Given the description of an element on the screen output the (x, y) to click on. 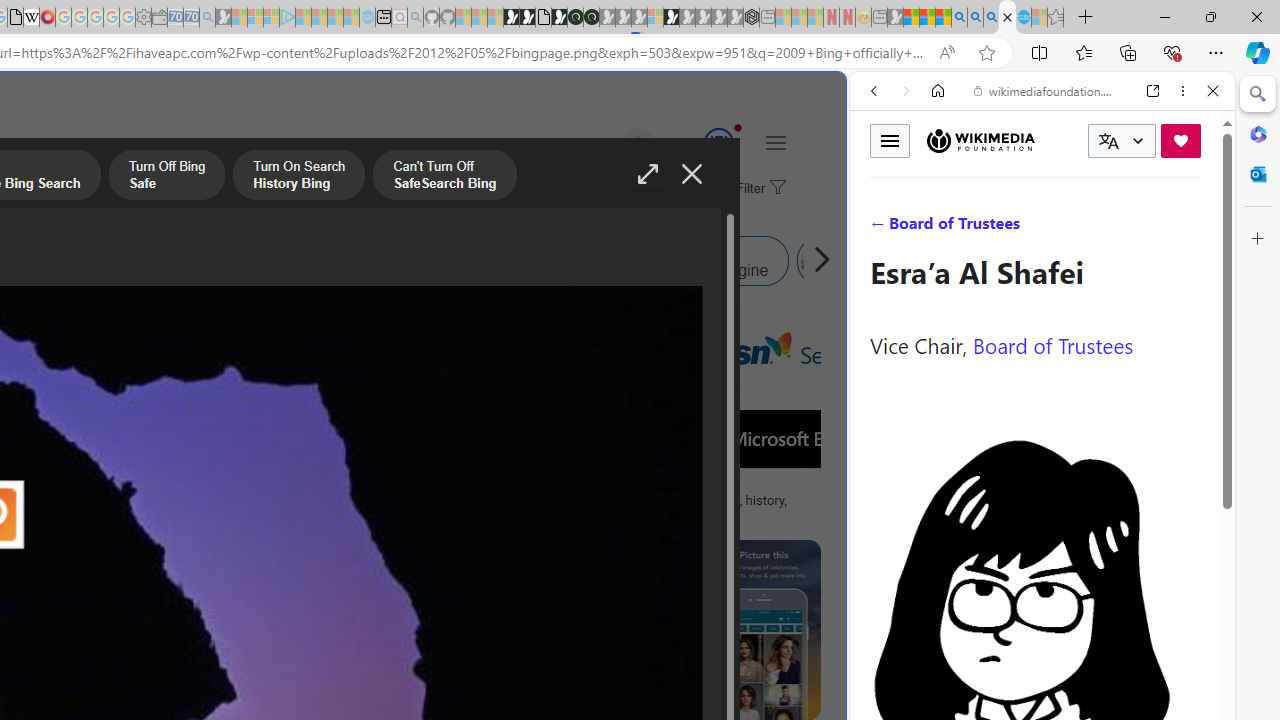
Https Bing Search Q MSN (889, 260)
Technology History timeline | Timetoast timelines (185, 508)
Bing AI - Search (959, 17)
Services - Maintenance | Sky Blue Bikes - Sky Blue Bikes (1023, 17)
Donate now (1180, 140)
